Given the description of an element on the screen output the (x, y) to click on. 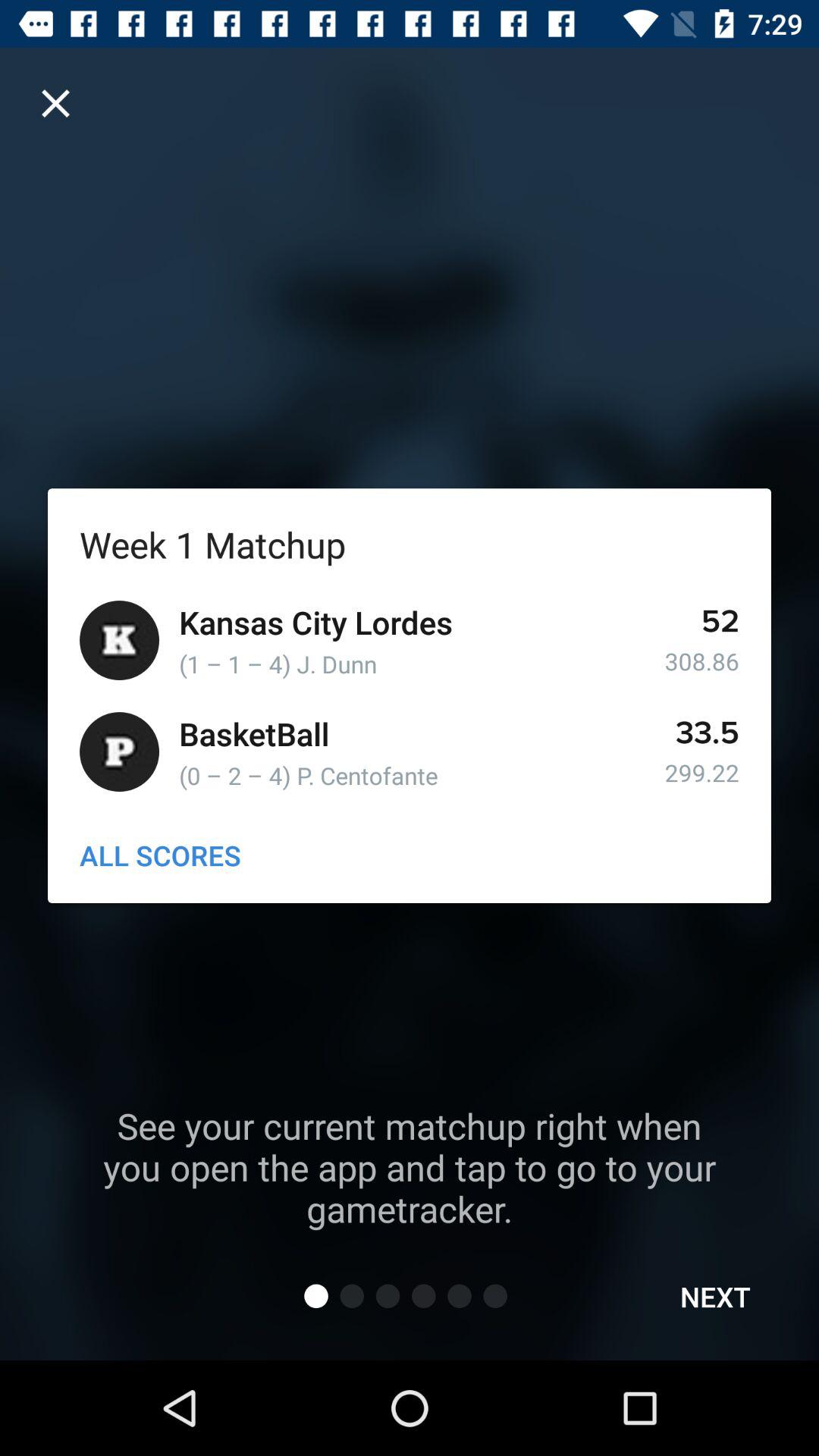
cancel option (55, 103)
